Given the description of an element on the screen output the (x, y) to click on. 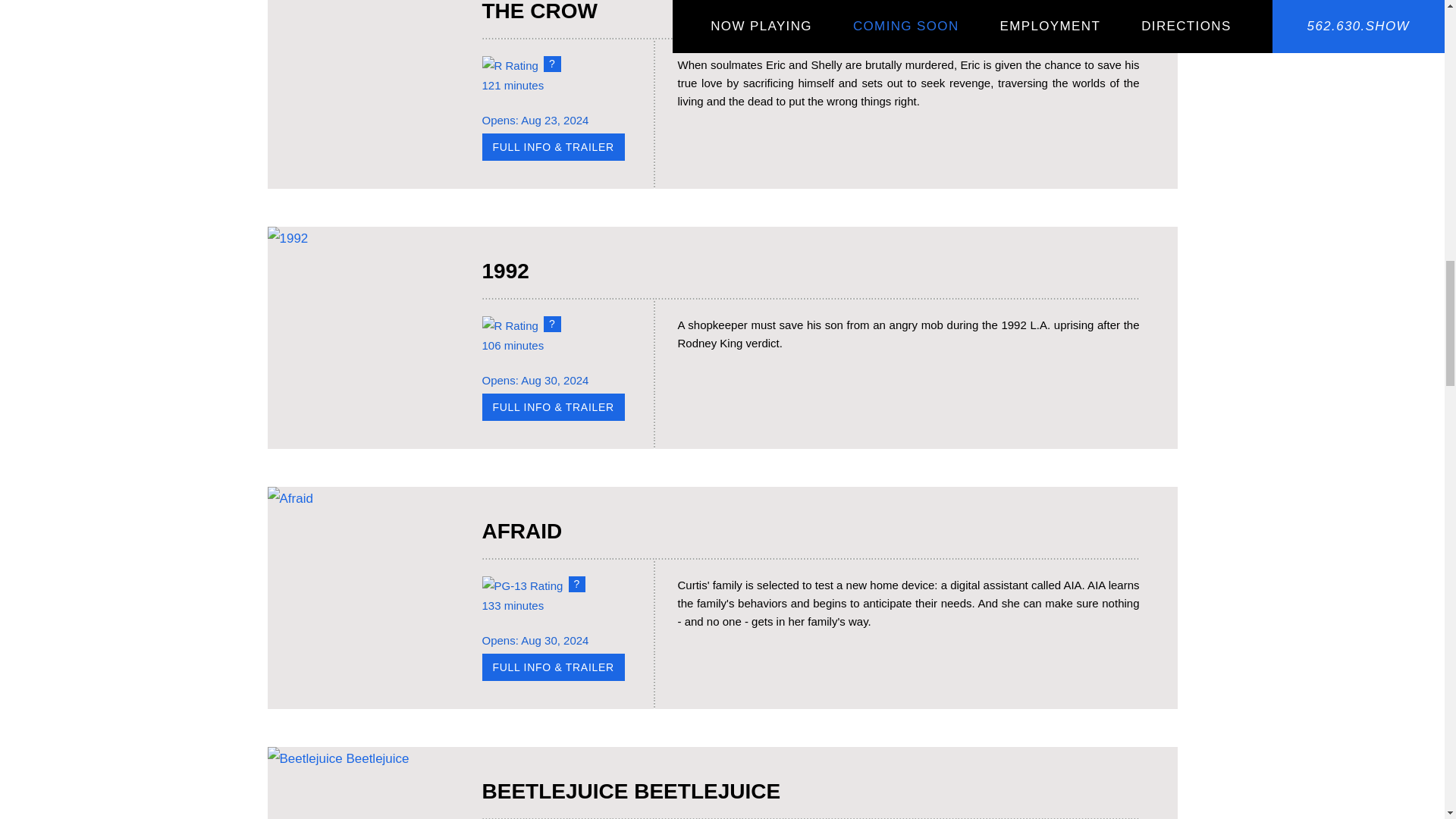
? (551, 324)
? (577, 584)
Rated R for violence and pervasive language. (551, 324)
? (551, 64)
